Given the description of an element on the screen output the (x, y) to click on. 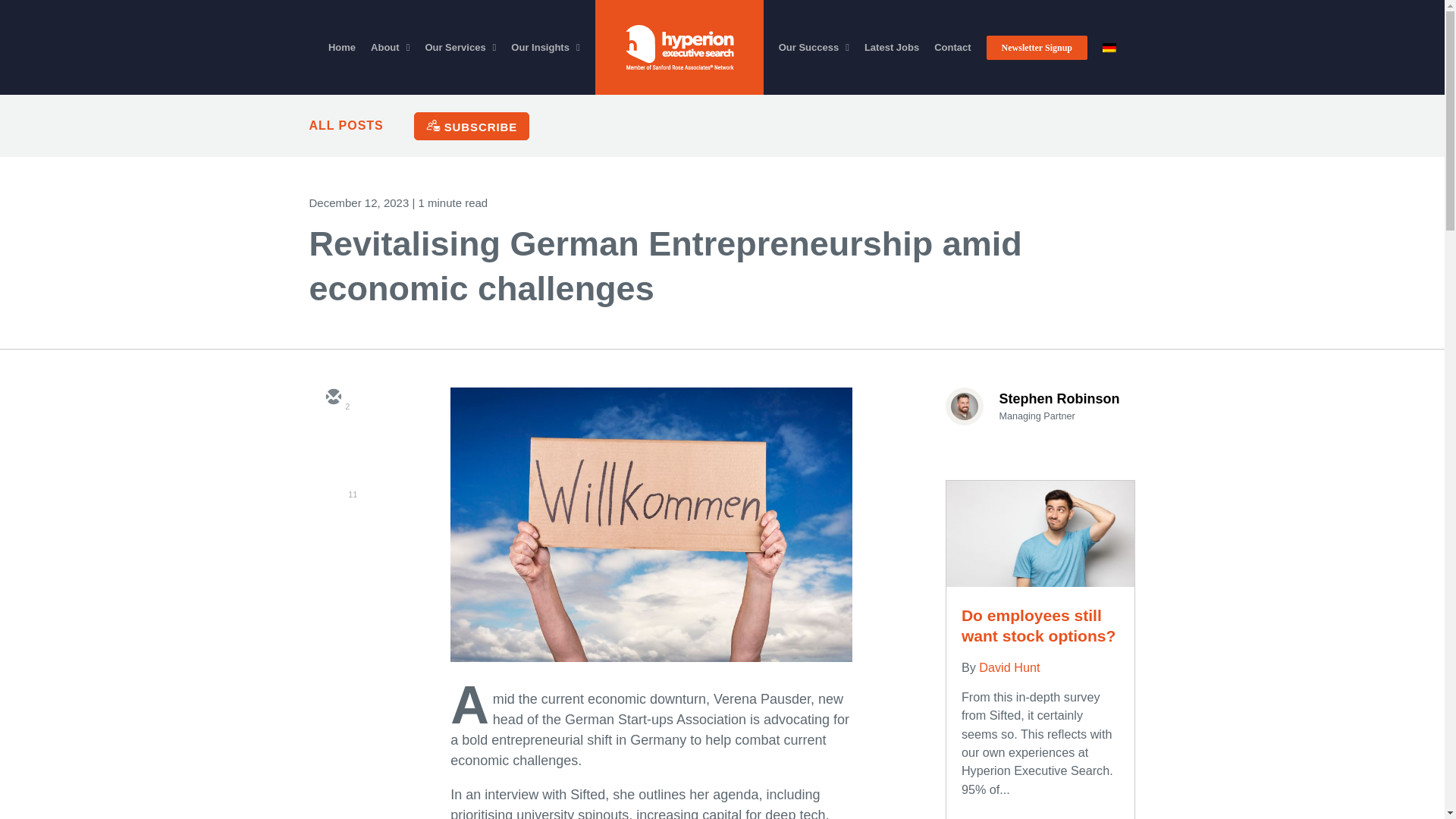
Newsletter Signup (1037, 46)
Contact (952, 46)
Our Success (813, 46)
Our Insights (545, 46)
Our Services (460, 46)
Home (342, 46)
About (390, 46)
Latest Jobs (891, 46)
